Given the description of an element on the screen output the (x, y) to click on. 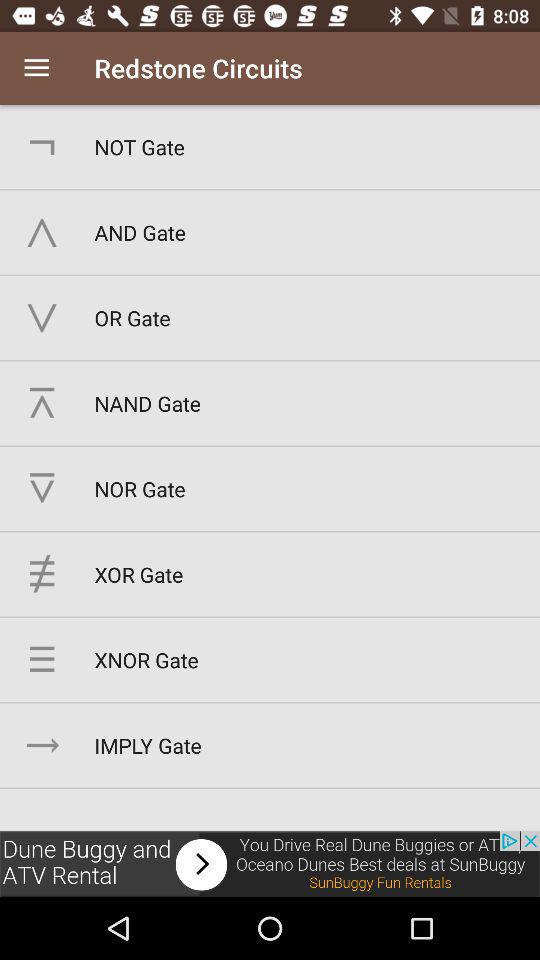
advertisements banner (270, 864)
